Given the description of an element on the screen output the (x, y) to click on. 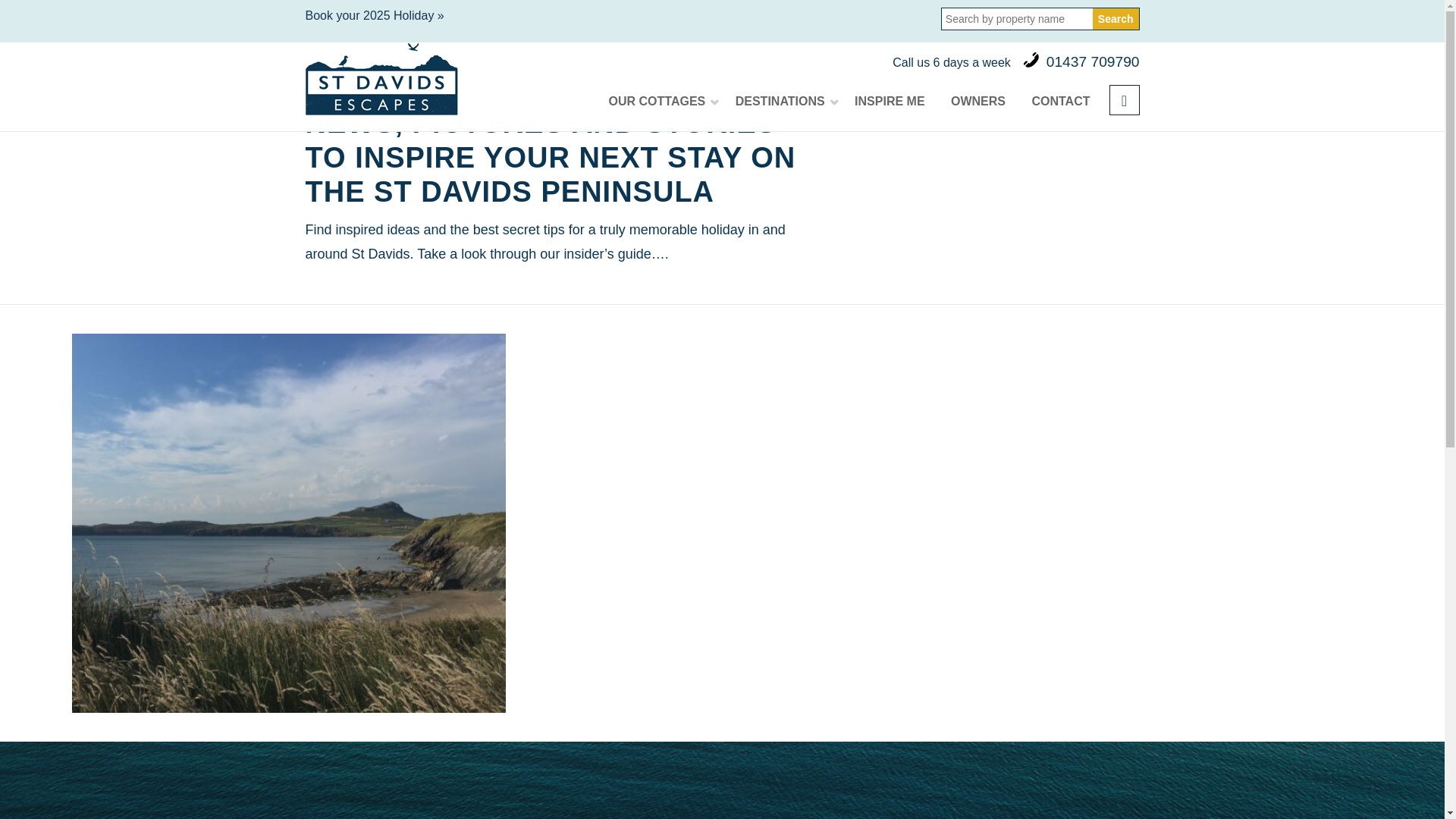
phone (1032, 60)
OWNERS (977, 101)
CONTACT (1060, 101)
OUR COTTAGES (658, 101)
Search (1116, 18)
Search (1116, 18)
DESTINATIONS (781, 101)
01437 709790 (1093, 61)
INSPIRE ME (889, 101)
